Given the description of an element on the screen output the (x, y) to click on. 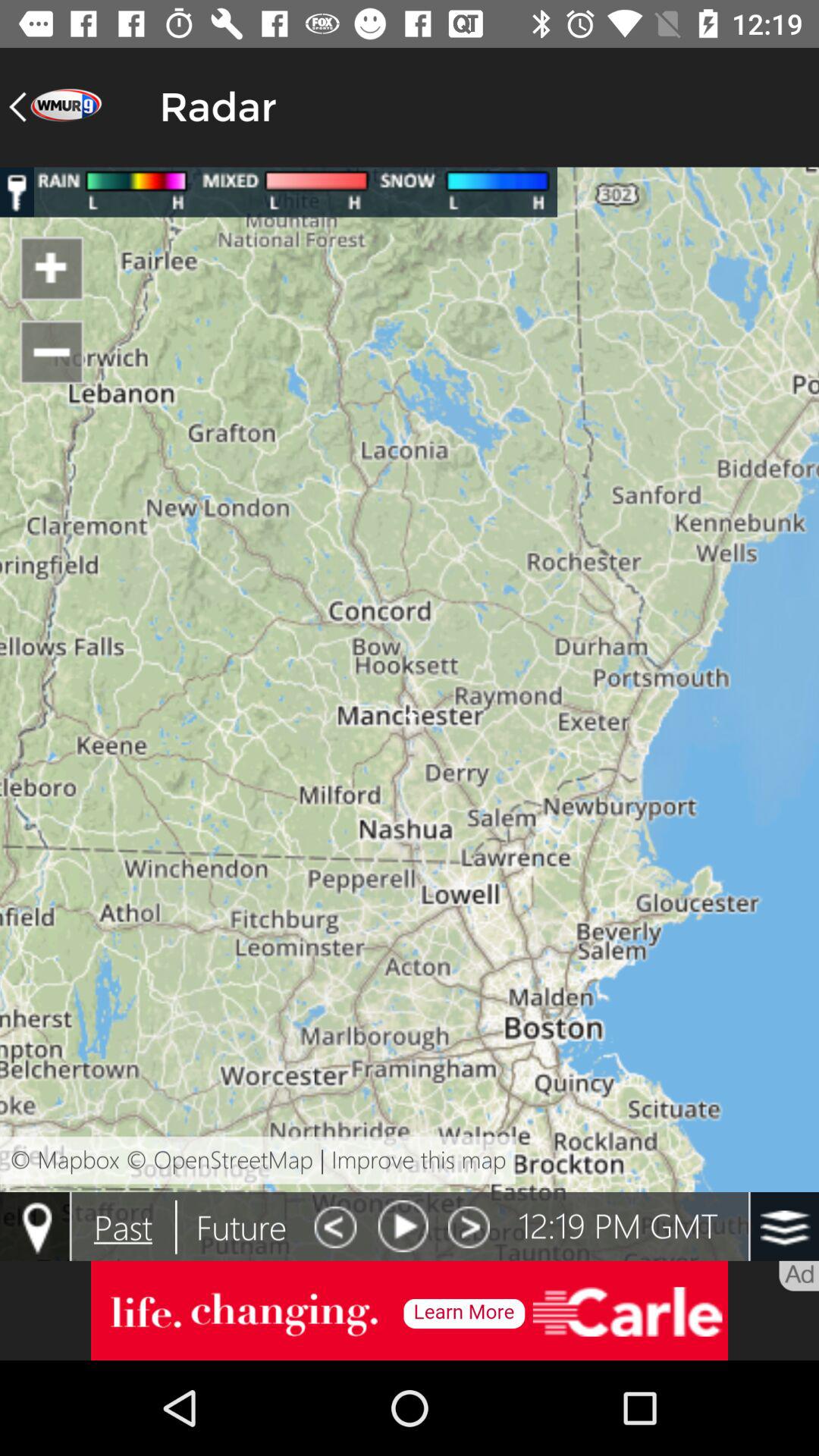
colour paga (409, 713)
